Given the description of an element on the screen output the (x, y) to click on. 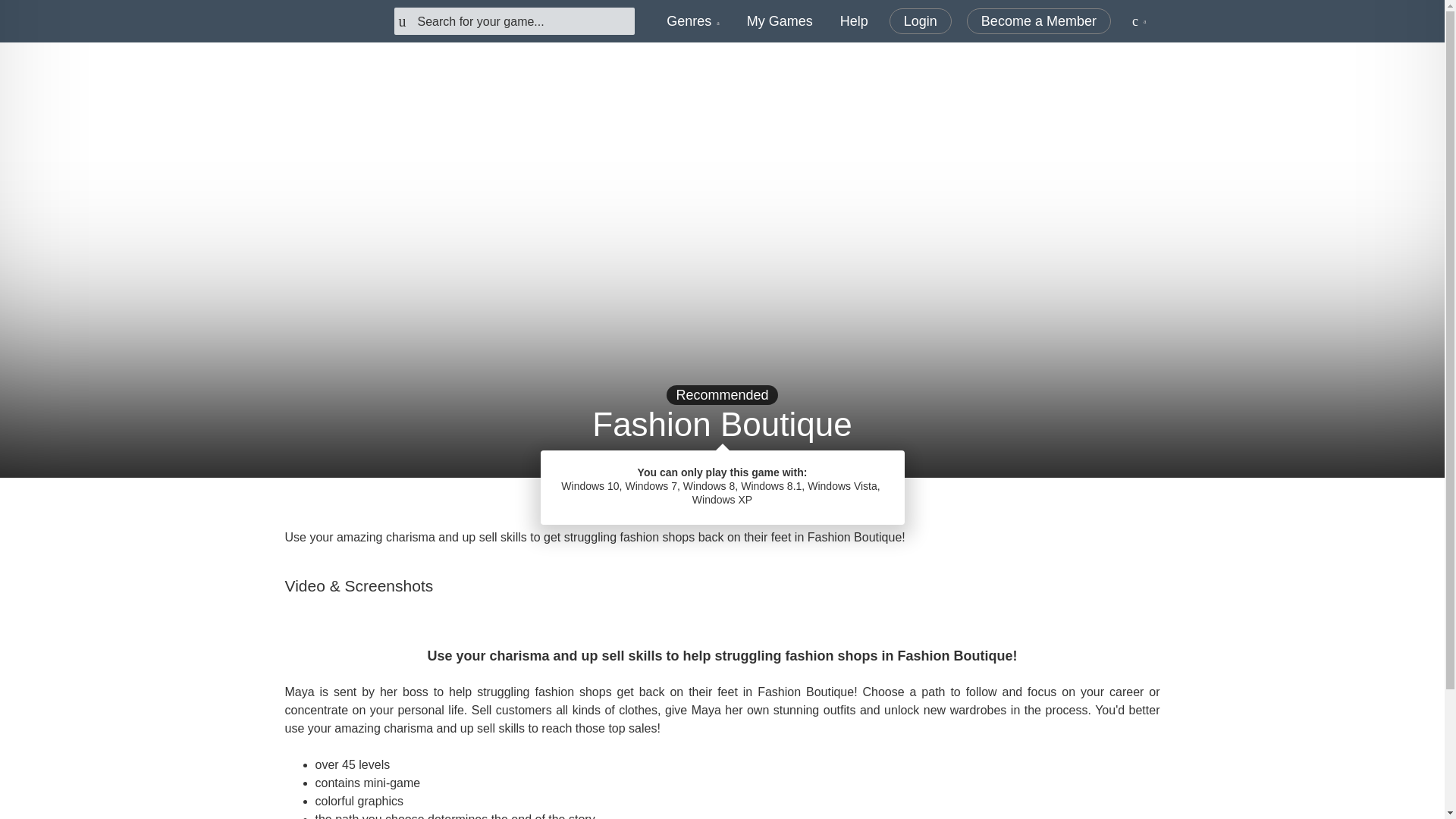
Time Management (658, 498)
Login (920, 21)
Become a Member (1038, 21)
My Games (780, 21)
Windows Games (775, 498)
My Games (780, 21)
Time Management (658, 498)
Become a Member (1038, 21)
Help (854, 21)
Help (854, 21)
